Given the description of an element on the screen output the (x, y) to click on. 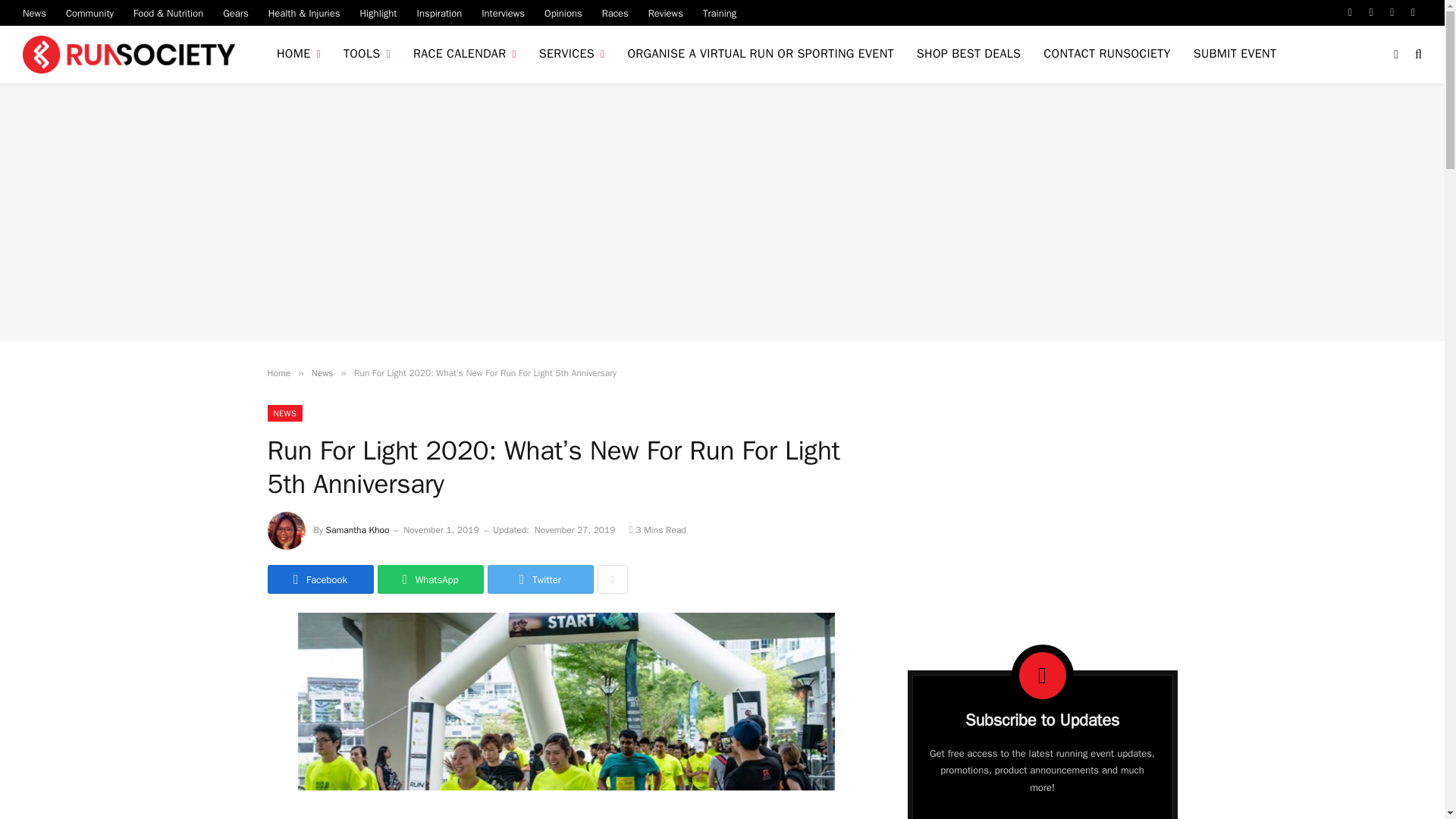
Share on Facebook (319, 579)
Posts by Samantha Khoo (358, 530)
Share on WhatsApp (430, 579)
Switch to Dark Design - easier on eyes. (1396, 54)
Search (1417, 54)
